Given the description of an element on the screen output the (x, y) to click on. 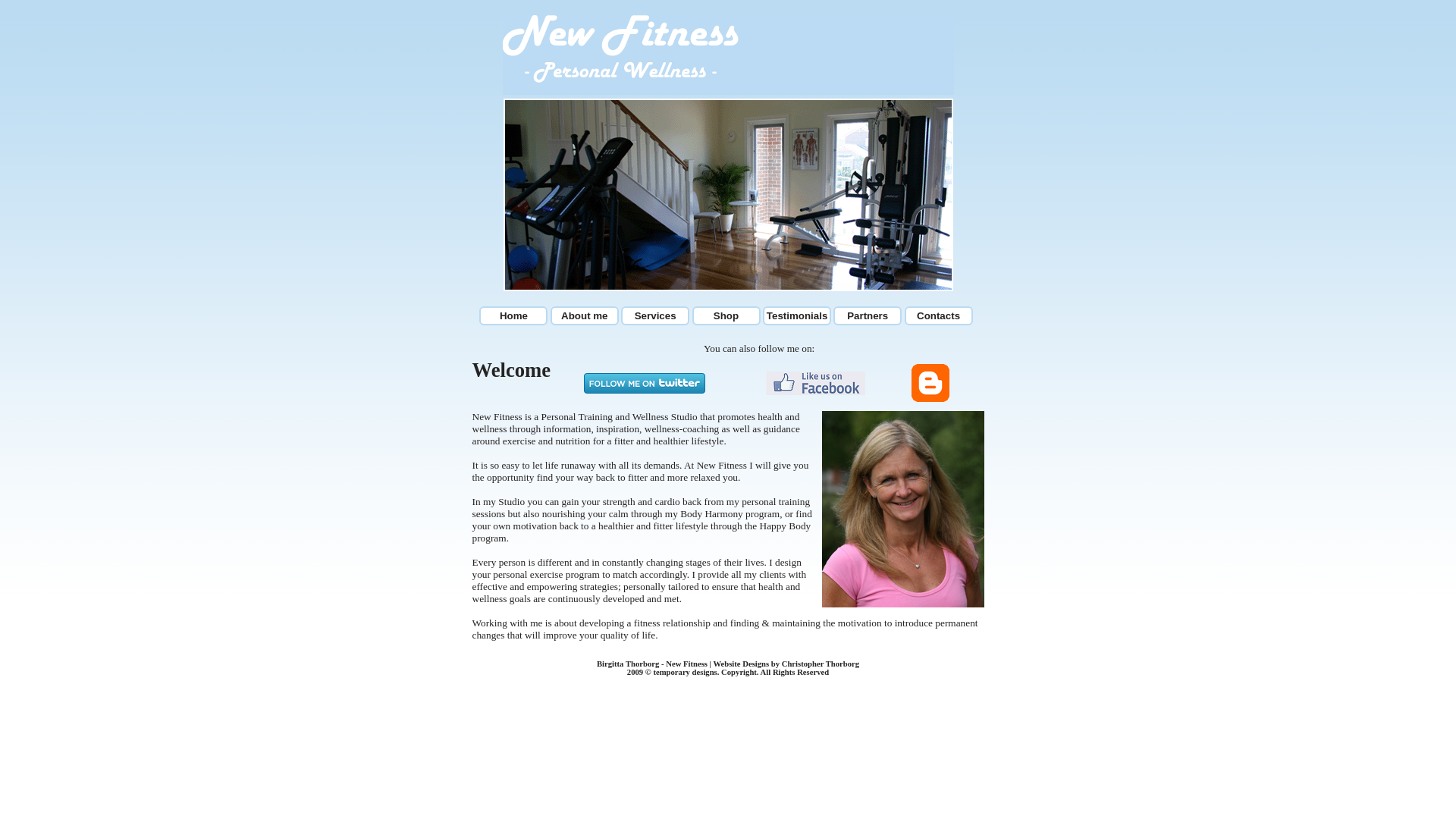
Testimonials Element type: text (796, 315)
Partners Element type: text (867, 315)
About me Element type: text (584, 315)
Shop Element type: text (725, 315)
Services Element type: text (655, 315)
Contacts Element type: text (938, 315)
Home Element type: text (513, 315)
